Given the description of an element on the screen output the (x, y) to click on. 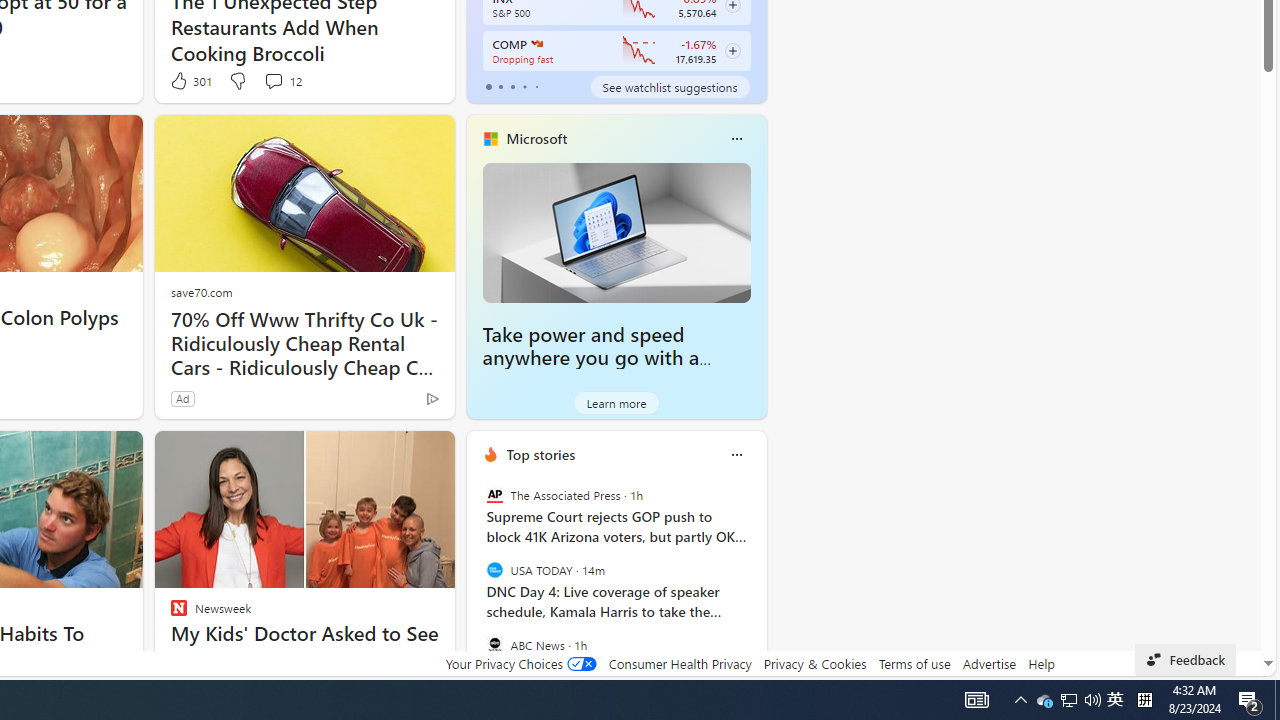
save70.com (201, 291)
Class: follow-button  m (732, 51)
tab-2 (511, 86)
Learn more (616, 402)
tab-3 (524, 86)
View comments 12 Comment (273, 80)
next (756, 583)
Top stories (540, 454)
tab-4 (535, 86)
